Given the description of an element on the screen output the (x, y) to click on. 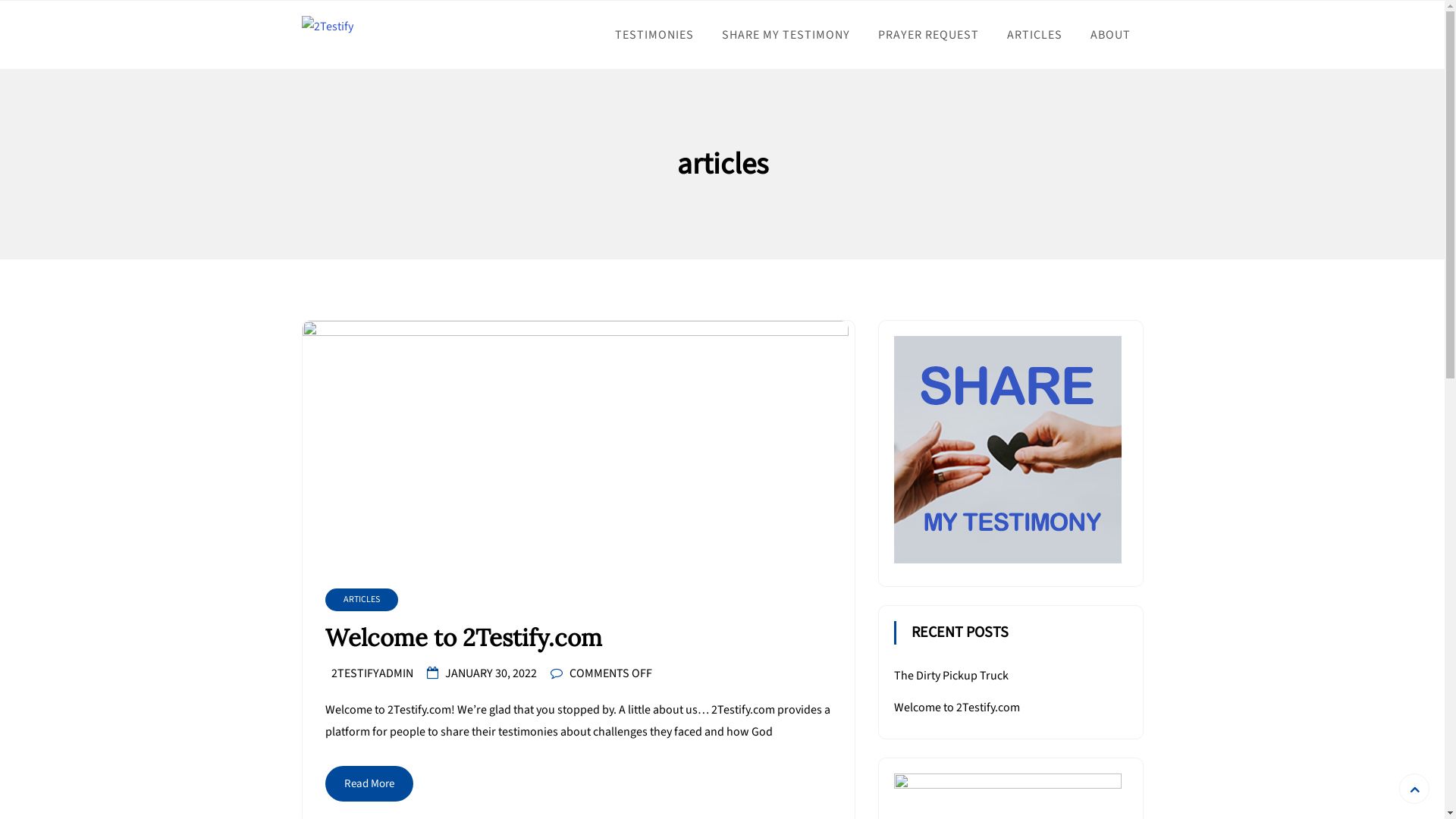
SHARE MY TESTIMONY Element type: text (785, 34)
Read More Element type: text (368, 783)
ARTICLES Element type: text (1033, 34)
TESTIMONIES Element type: text (654, 34)
Welcome to 2Testify.com Element type: text (577, 638)
JANUARY 30, 2022 Element type: text (490, 673)
2Testify Element type: text (347, 54)
2TESTIFYADMIN Element type: text (371, 673)
ABOUT Element type: text (1109, 34)
PRAYER REQUEST Element type: text (927, 34)
Welcome to 2Testify.com Element type: text (956, 707)
Skip to content Element type: text (0, 0)
The Dirty Pickup Truck Element type: text (950, 675)
ARTICLES Element type: text (360, 599)
